Given the description of an element on the screen output the (x, y) to click on. 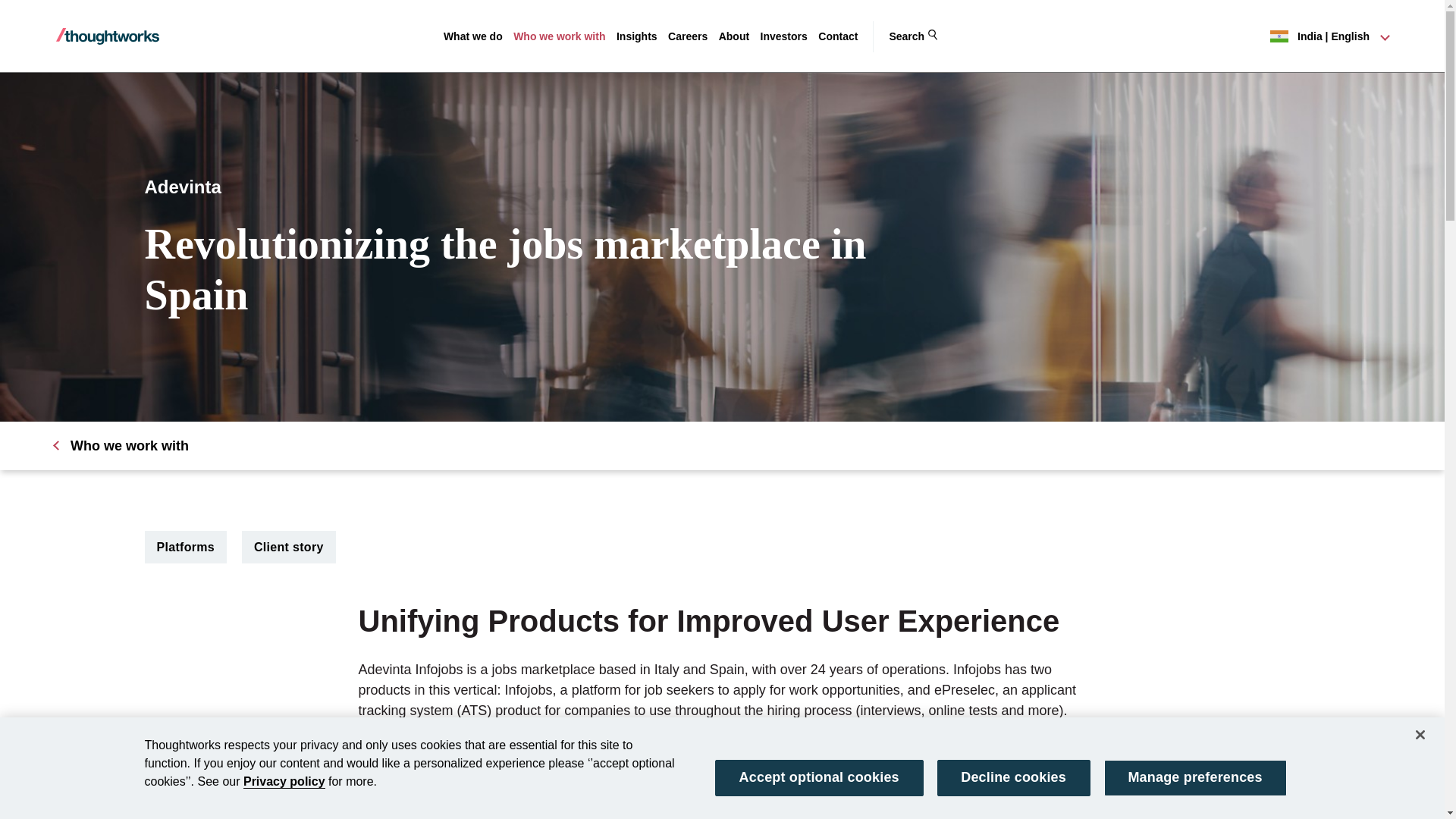
What we do (473, 36)
Thoughtworks (107, 36)
What we do (473, 36)
Insights (636, 36)
Who we work with (559, 36)
Insights (636, 36)
Thoughtworks (107, 36)
Who we work with (559, 36)
Careers (687, 36)
